Given the description of an element on the screen output the (x, y) to click on. 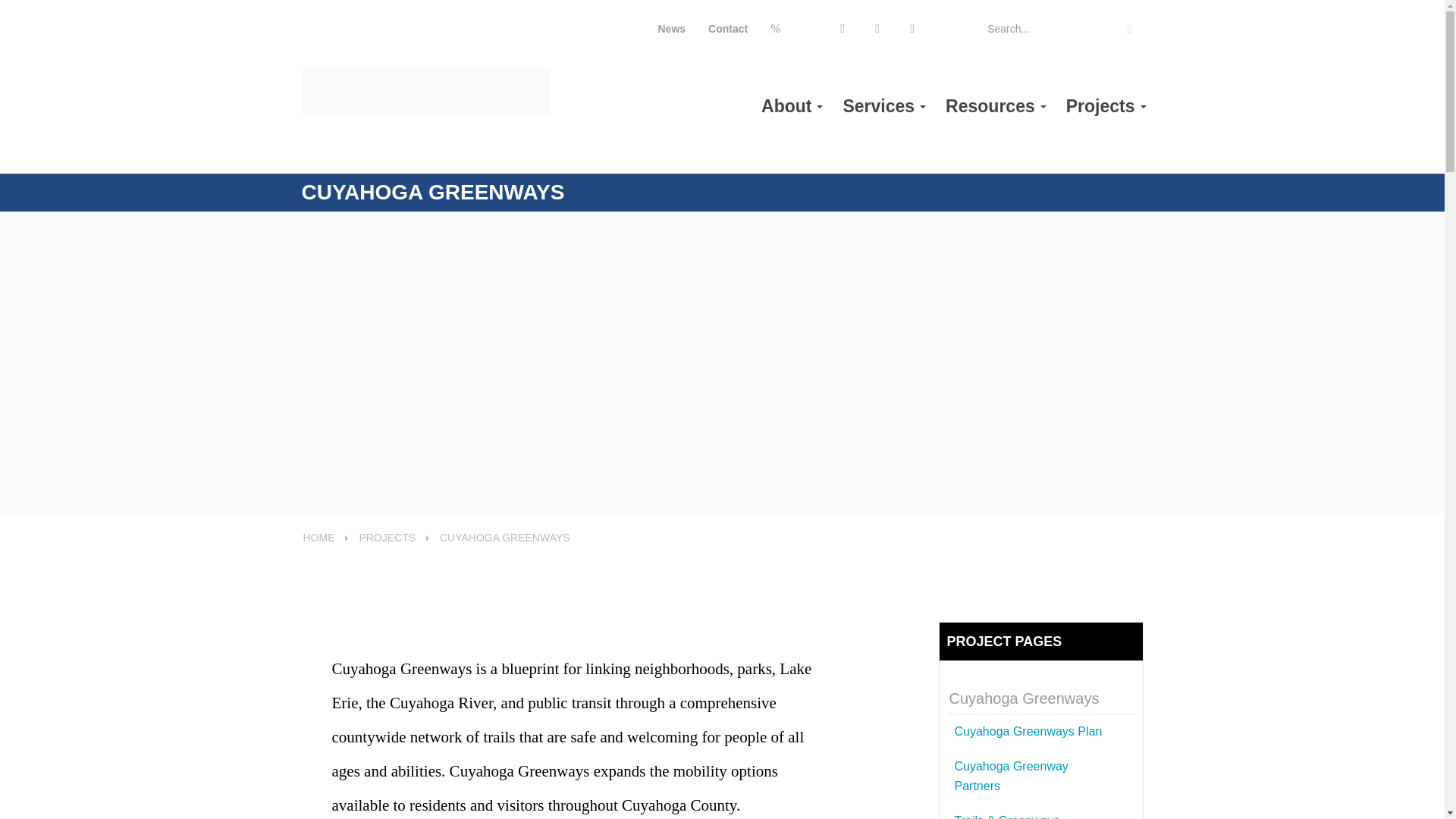
Search... (1063, 28)
Twitter (810, 28)
YouTube (845, 28)
Facebook (775, 28)
Search... (1063, 28)
Twitter (810, 28)
YouTube (845, 28)
Facebook (775, 28)
Contact (727, 28)
News (671, 28)
News (671, 28)
Contact Us (727, 28)
